Given the description of an element on the screen output the (x, y) to click on. 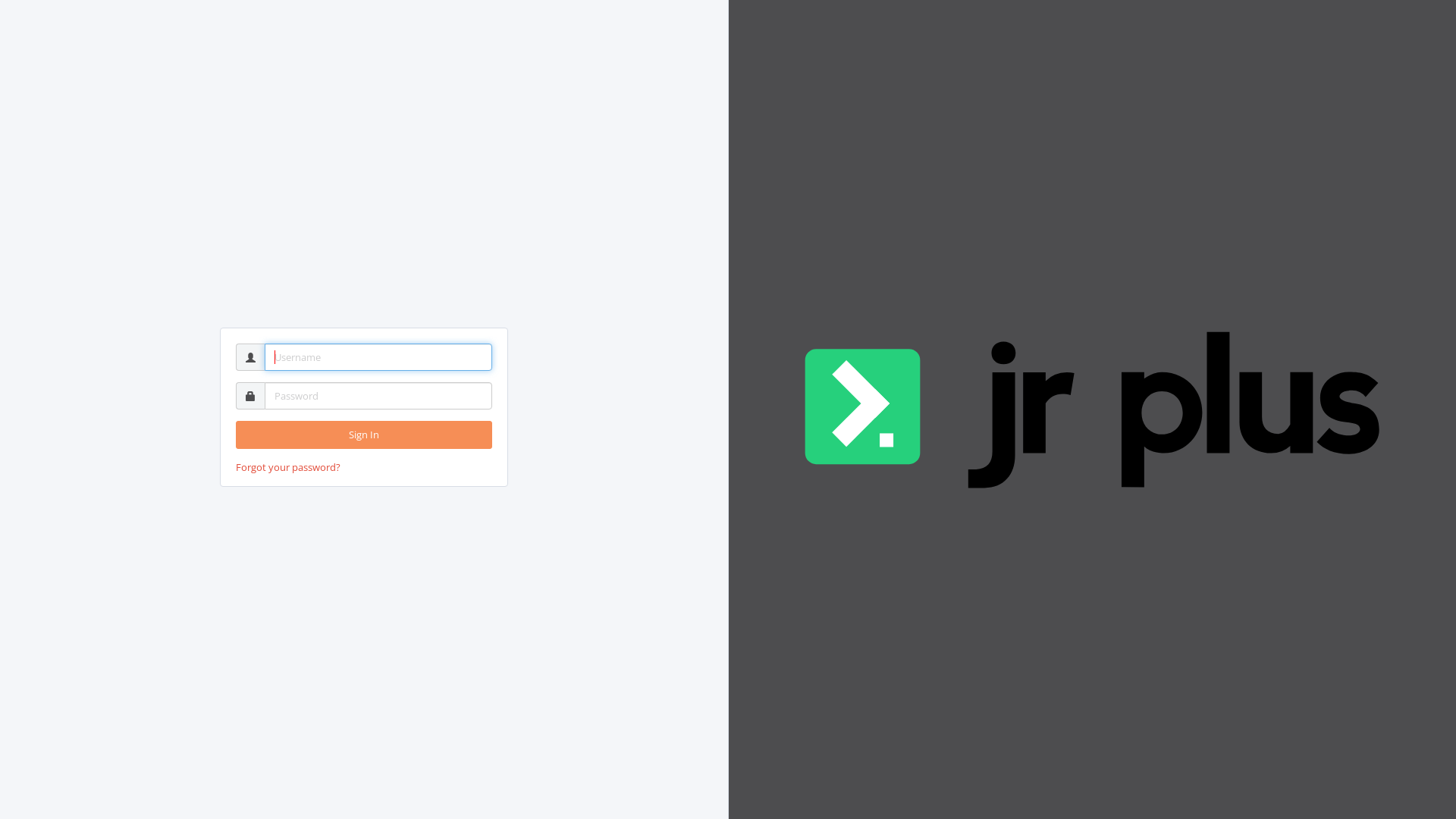
Sign In Element type: text (363, 434)
Forgot your password? Element type: text (287, 466)
